Given the description of an element on the screen output the (x, y) to click on. 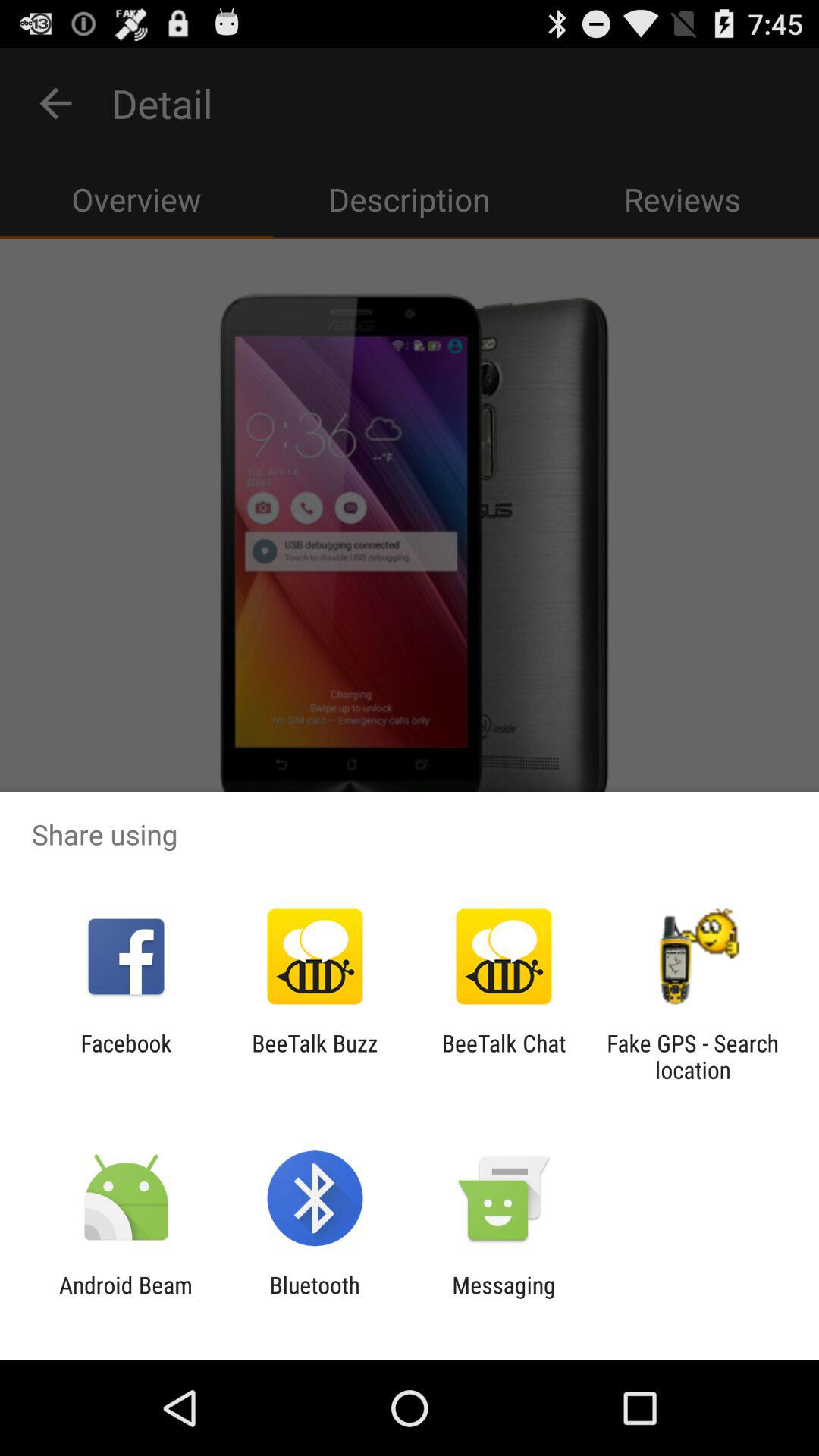
click the messaging app (503, 1298)
